Given the description of an element on the screen output the (x, y) to click on. 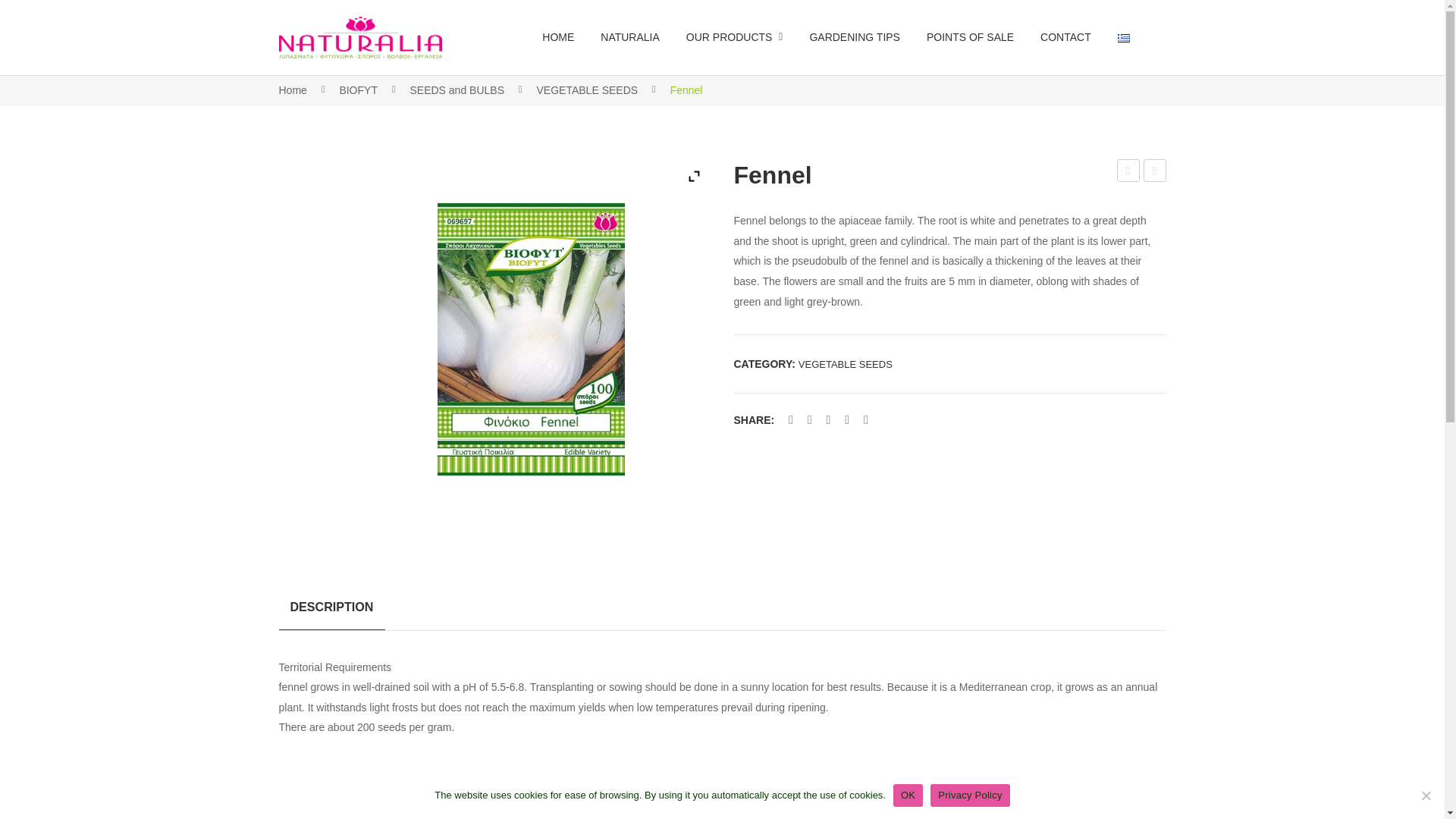
OUR PRODUCTS (734, 37)
069697 (530, 338)
GARDENING TIPS (854, 37)
NATURALIA (629, 37)
CONTACT (1065, 37)
POINTS OF SALE (969, 37)
